Given the description of an element on the screen output the (x, y) to click on. 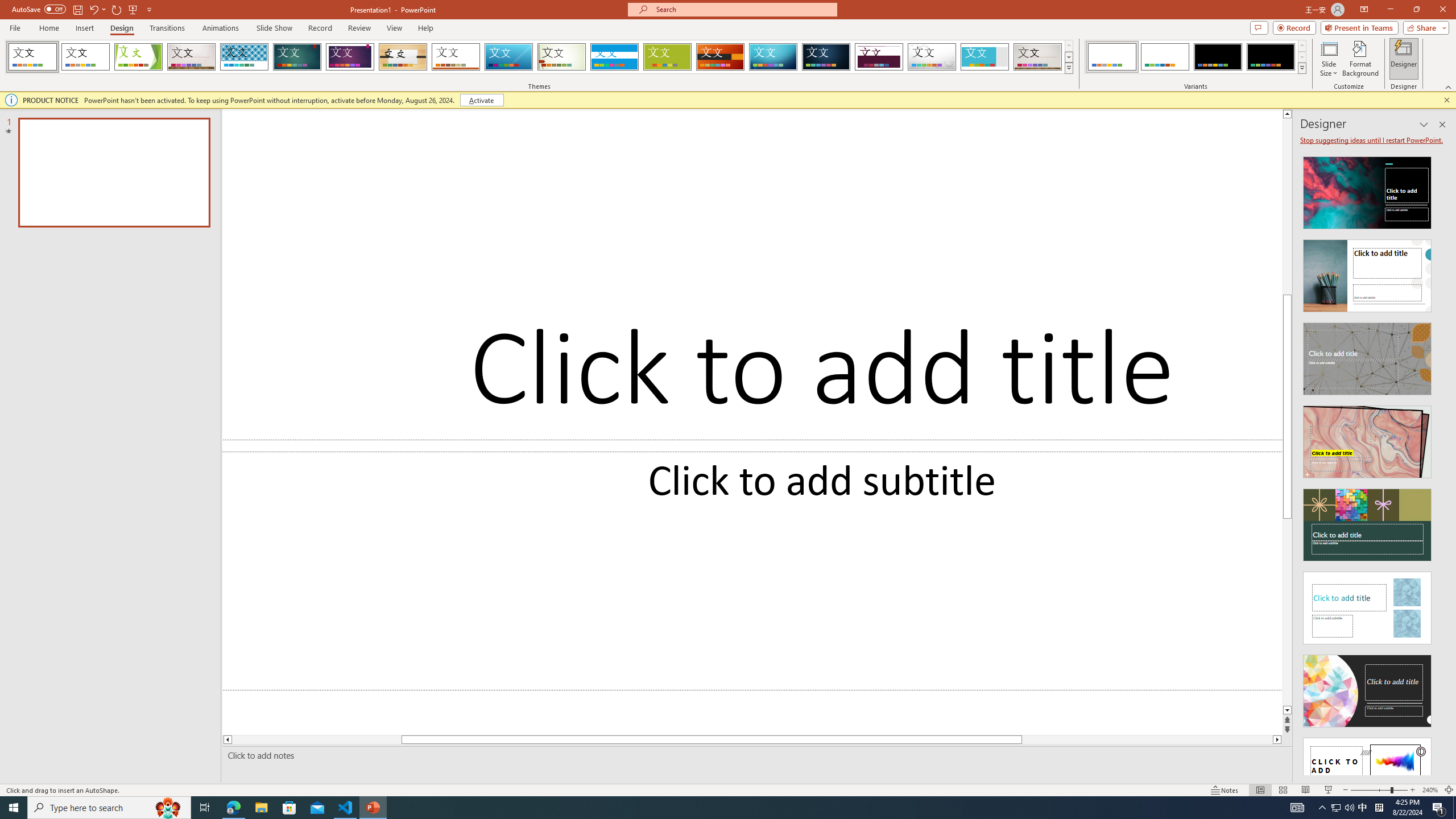
Slide Size (1328, 58)
Wisp (561, 56)
Themes (1068, 67)
